Given the description of an element on the screen output the (x, y) to click on. 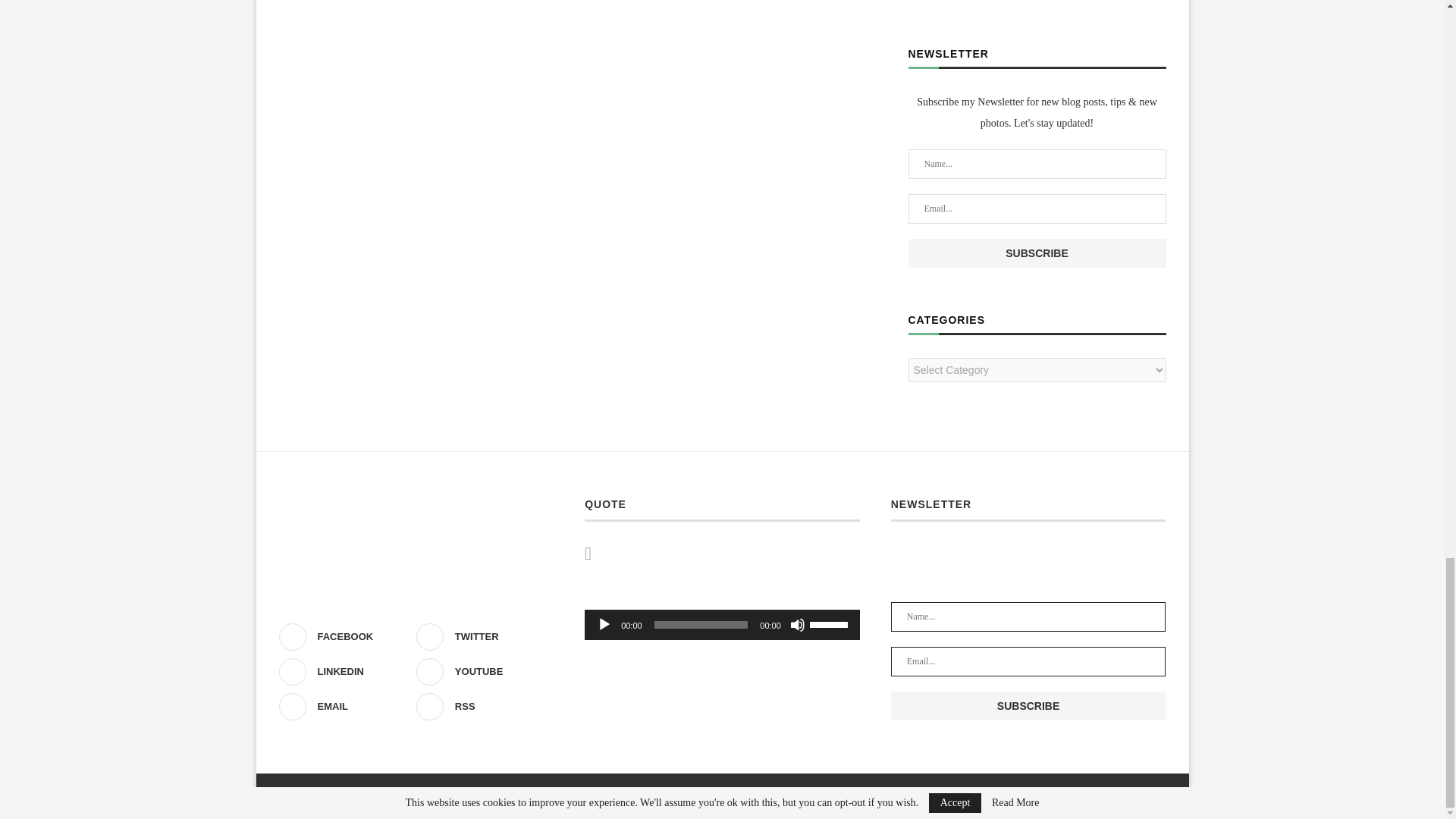
Subscribe (1037, 253)
Subscribe (1028, 705)
